Given the description of an element on the screen output the (x, y) to click on. 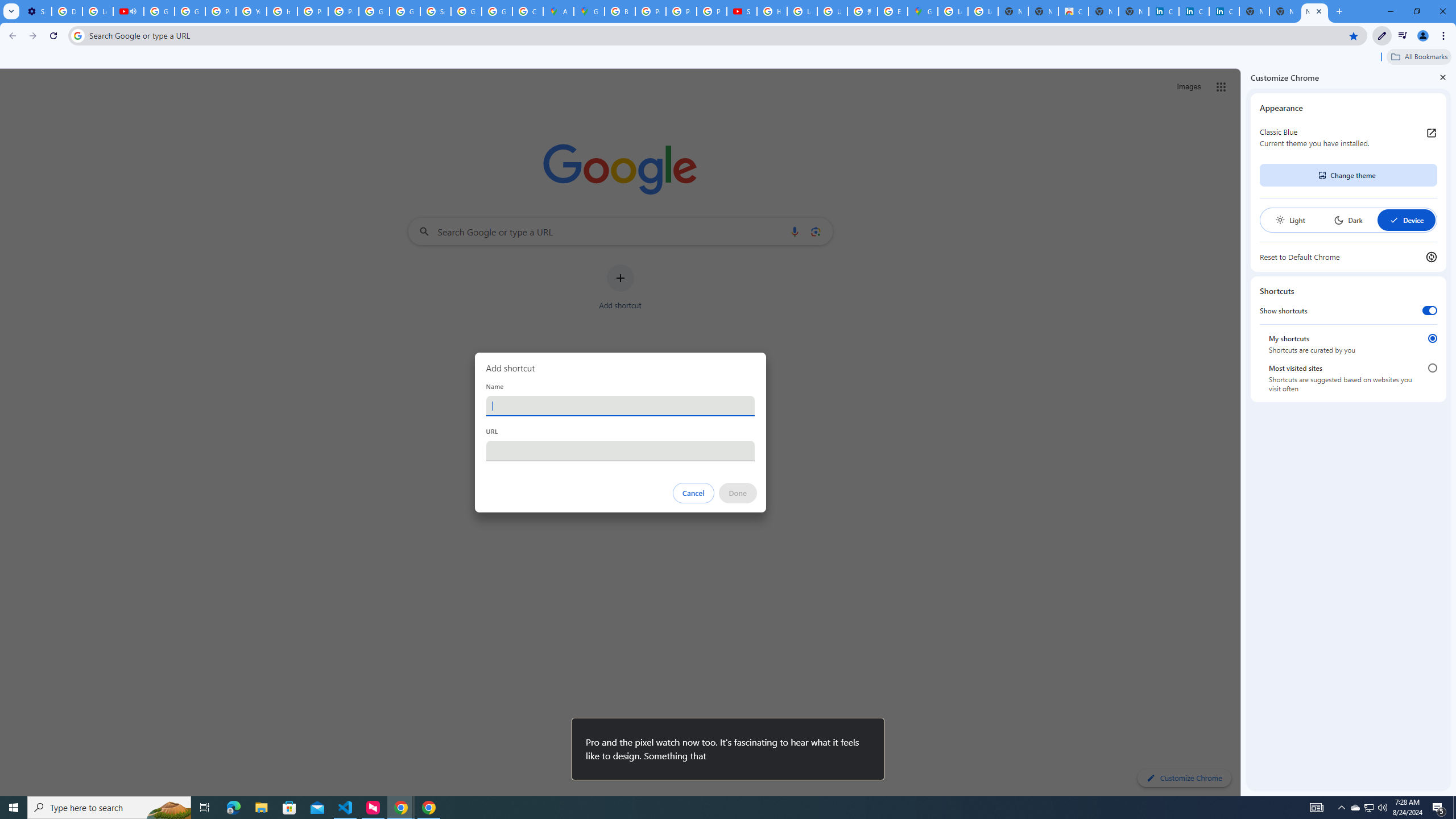
URL (620, 450)
Google Maps (922, 11)
Change theme (1348, 174)
Privacy Help Center - Policies Help (681, 11)
Google Account Help (158, 11)
New Tab (1314, 11)
Privacy Help Center - Policies Help (650, 11)
